Given the description of an element on the screen output the (x, y) to click on. 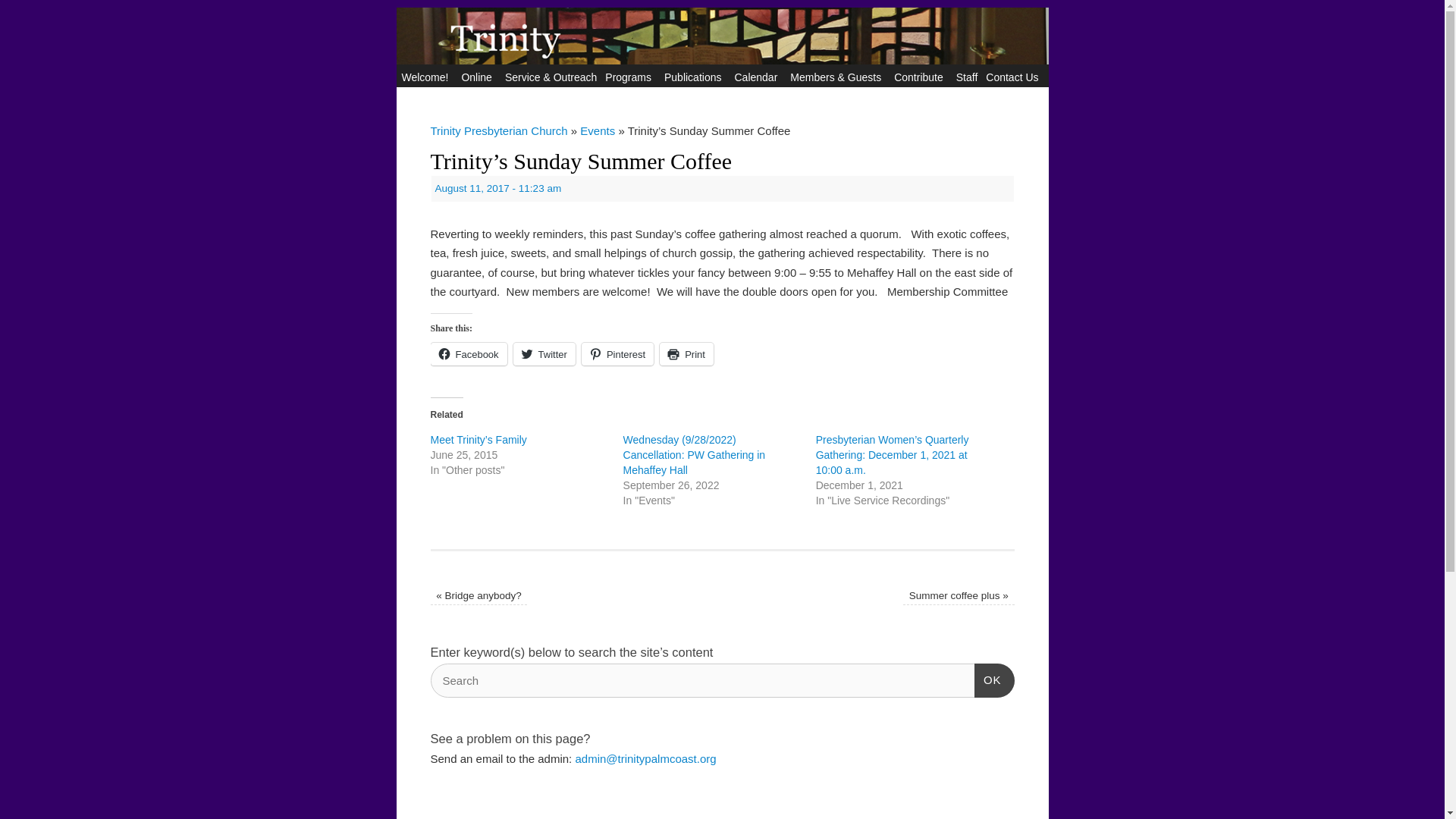
Welcome! (427, 75)
Click to share on Pinterest (616, 354)
Trinity Presbyterian Church (722, 83)
Online (478, 75)
Click to share on Twitter (544, 354)
Click to print (686, 354)
11:23 am (498, 188)
Click to share on Facebook (468, 354)
Programs (630, 75)
Publications (695, 75)
